Given the description of an element on the screen output the (x, y) to click on. 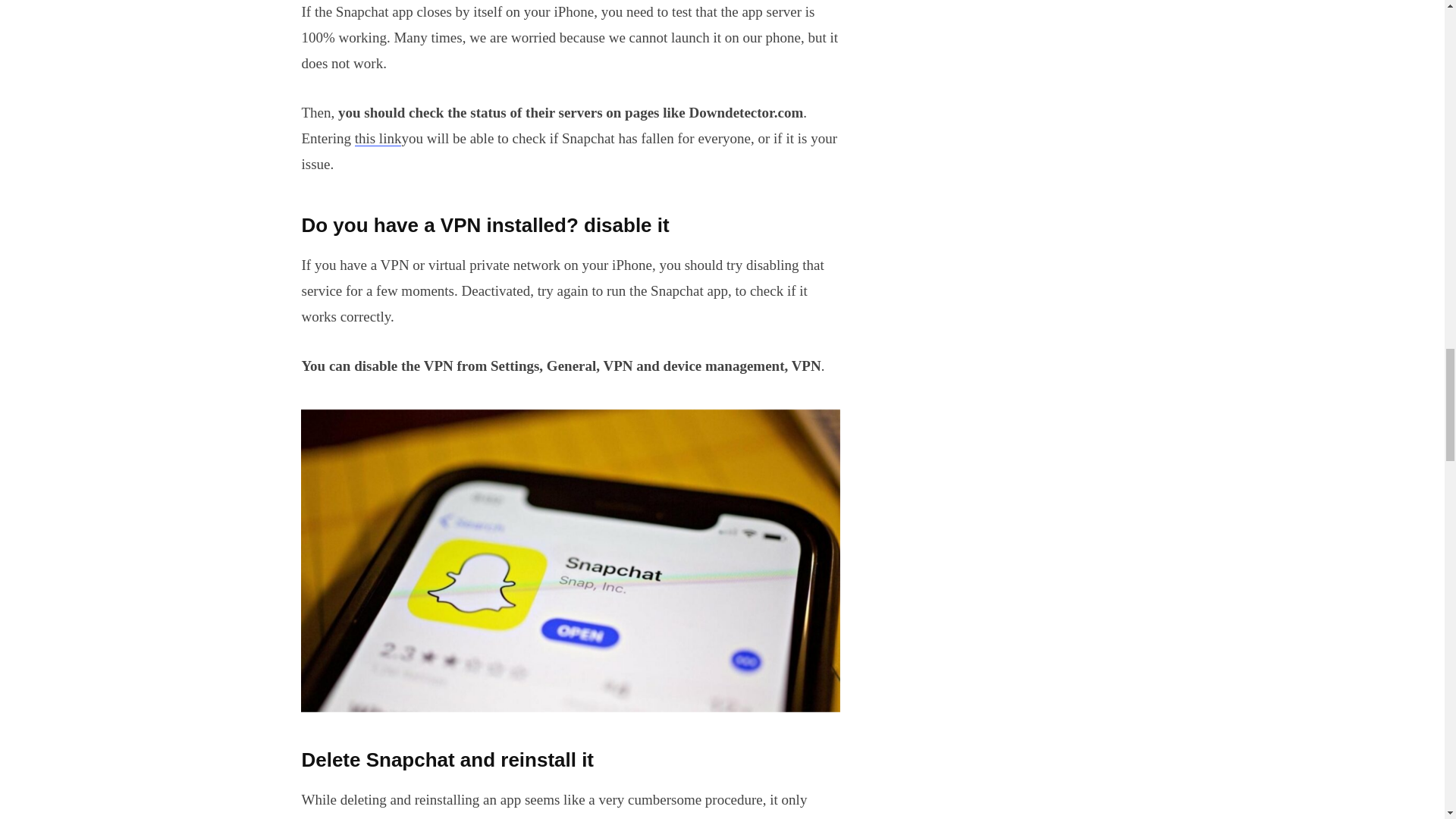
this link (378, 138)
